Given the description of an element on the screen output the (x, y) to click on. 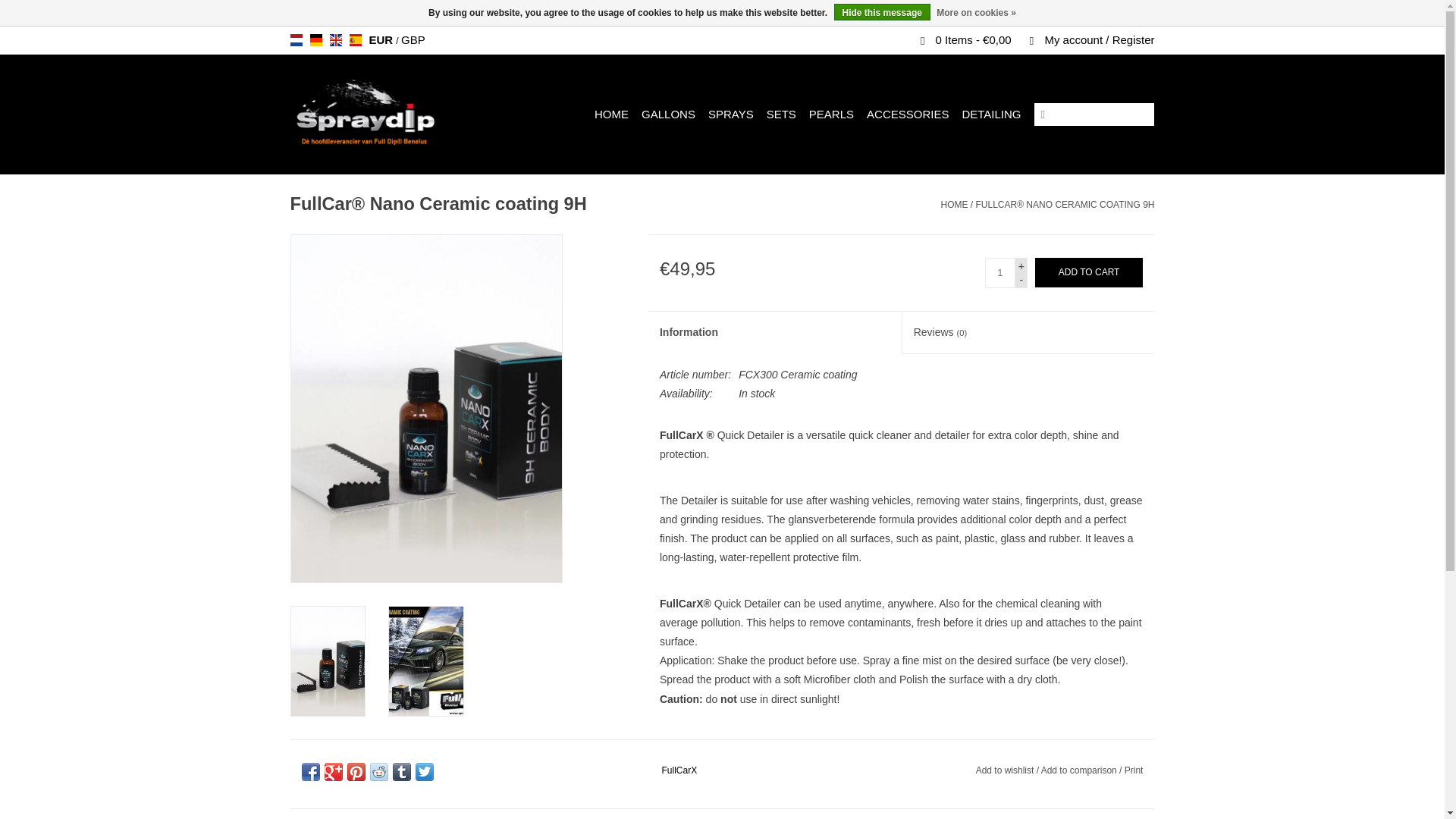
Deutsch (314, 39)
nl (295, 39)
gbp (413, 39)
Nederlands (295, 39)
EUR (382, 39)
Buy FullDip? Spraydip (378, 113)
SETS (780, 113)
GALLONS (668, 113)
SPRAYS (730, 113)
es (355, 39)
